Given the description of an element on the screen output the (x, y) to click on. 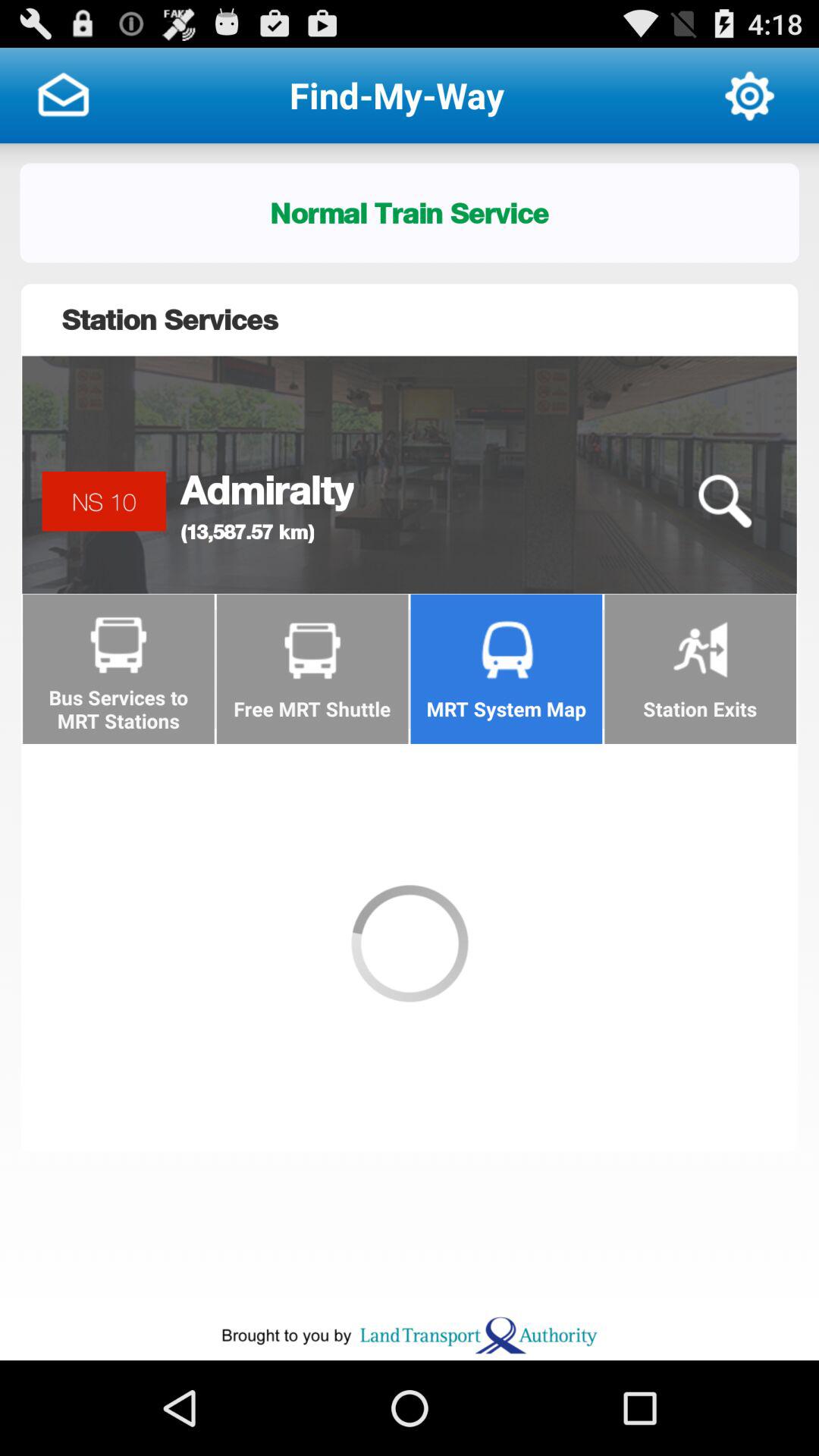
tap the app to the right of the find-my-way (749, 95)
